Given the description of an element on the screen output the (x, y) to click on. 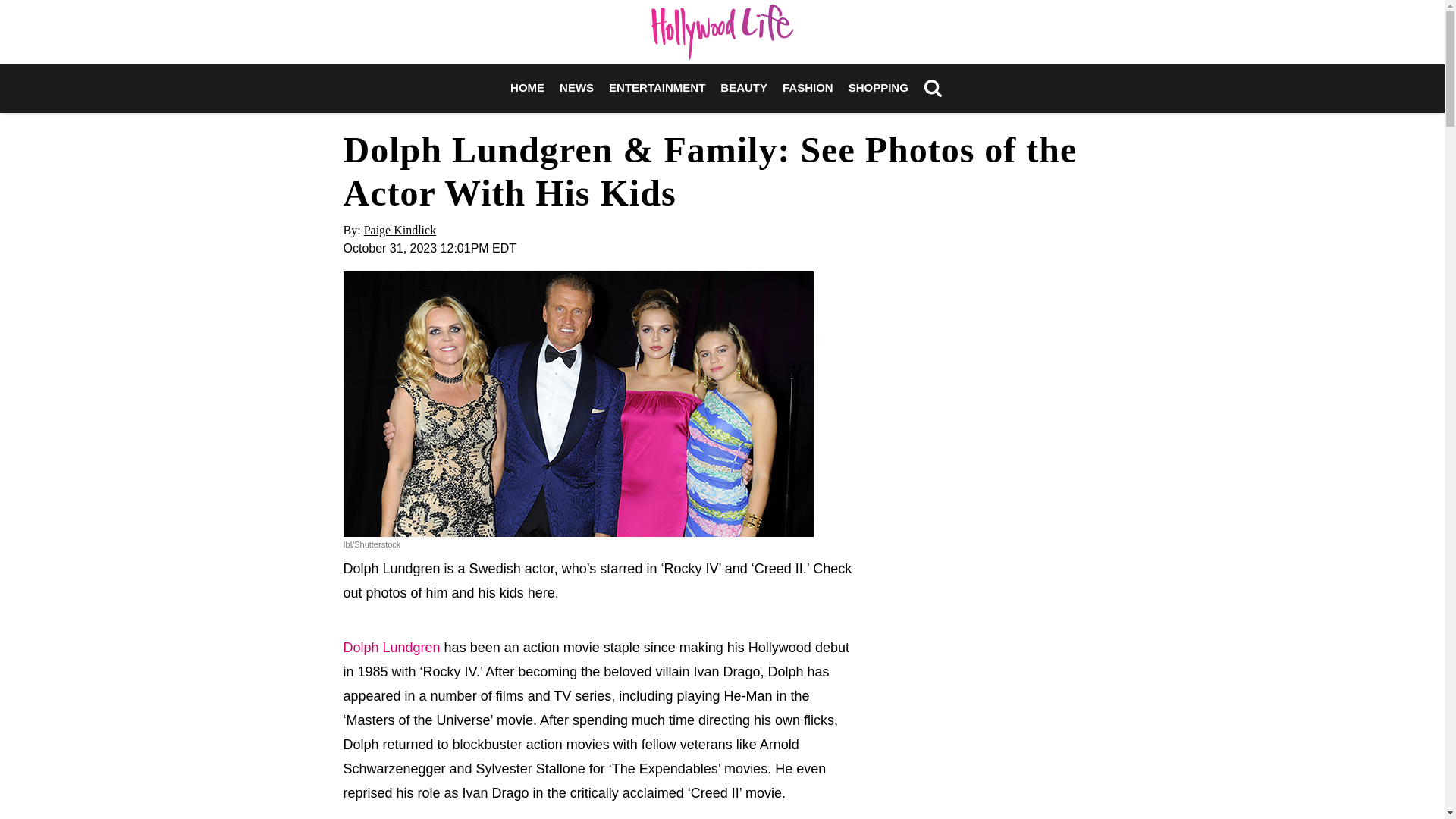
Posts by Paige Kindlick (400, 229)
Hollywood Life (722, 32)
BEAUTY (743, 88)
SHOPPING (878, 88)
ENTERTAINMENT (656, 88)
FASHION (807, 88)
